Given the description of an element on the screen output the (x, y) to click on. 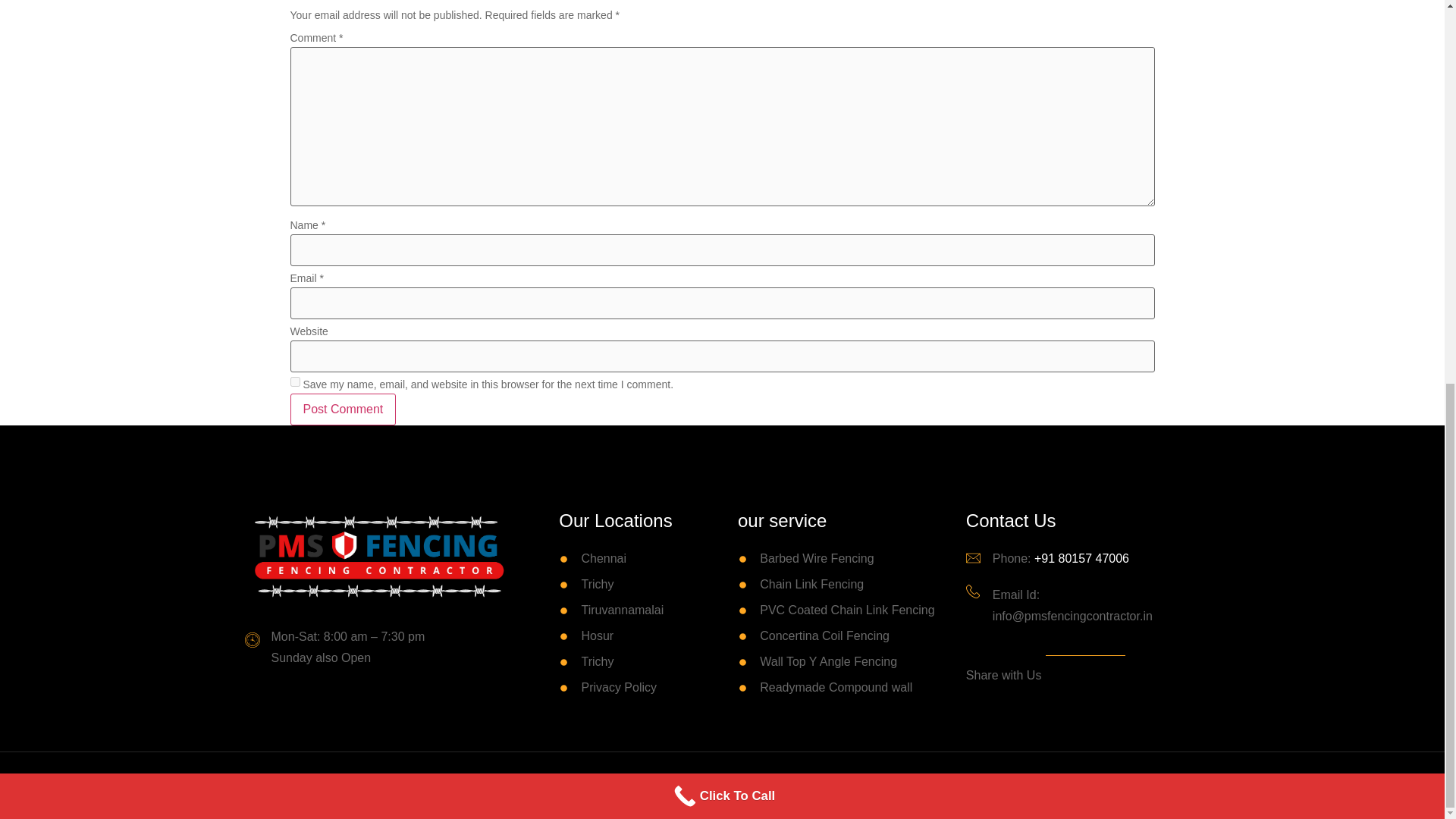
Trichy (623, 661)
Hosur (623, 636)
Post Comment (342, 409)
Privacy Policy (623, 687)
Zap Marketing (817, 785)
yes (294, 381)
Chennai (623, 558)
Tiruvannamalai (623, 609)
Post Comment (342, 409)
Trichy (623, 584)
